Given the description of an element on the screen output the (x, y) to click on. 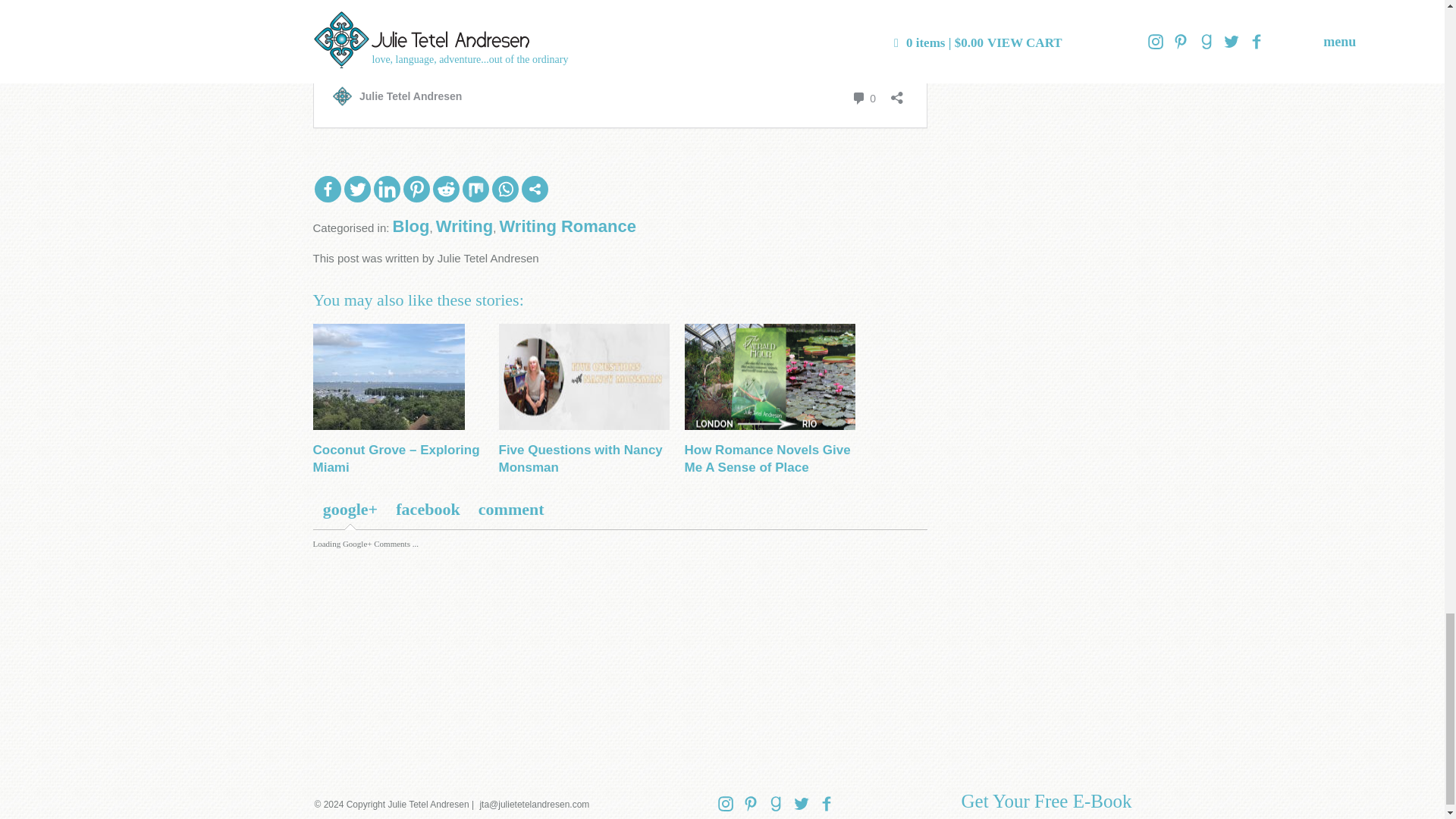
Five Questions with Nancy Monsman (580, 459)
Twitter (357, 189)
Reddit (445, 189)
Blog (411, 226)
Pinterest (416, 189)
Writing (464, 226)
Whatsapp (505, 189)
Mix (476, 189)
facebook (428, 509)
How Romance Novels Give Me A Sense of Place (767, 459)
LinkedIn (385, 189)
Writing Romance (567, 226)
Facebook (327, 189)
